Given the description of an element on the screen output the (x, y) to click on. 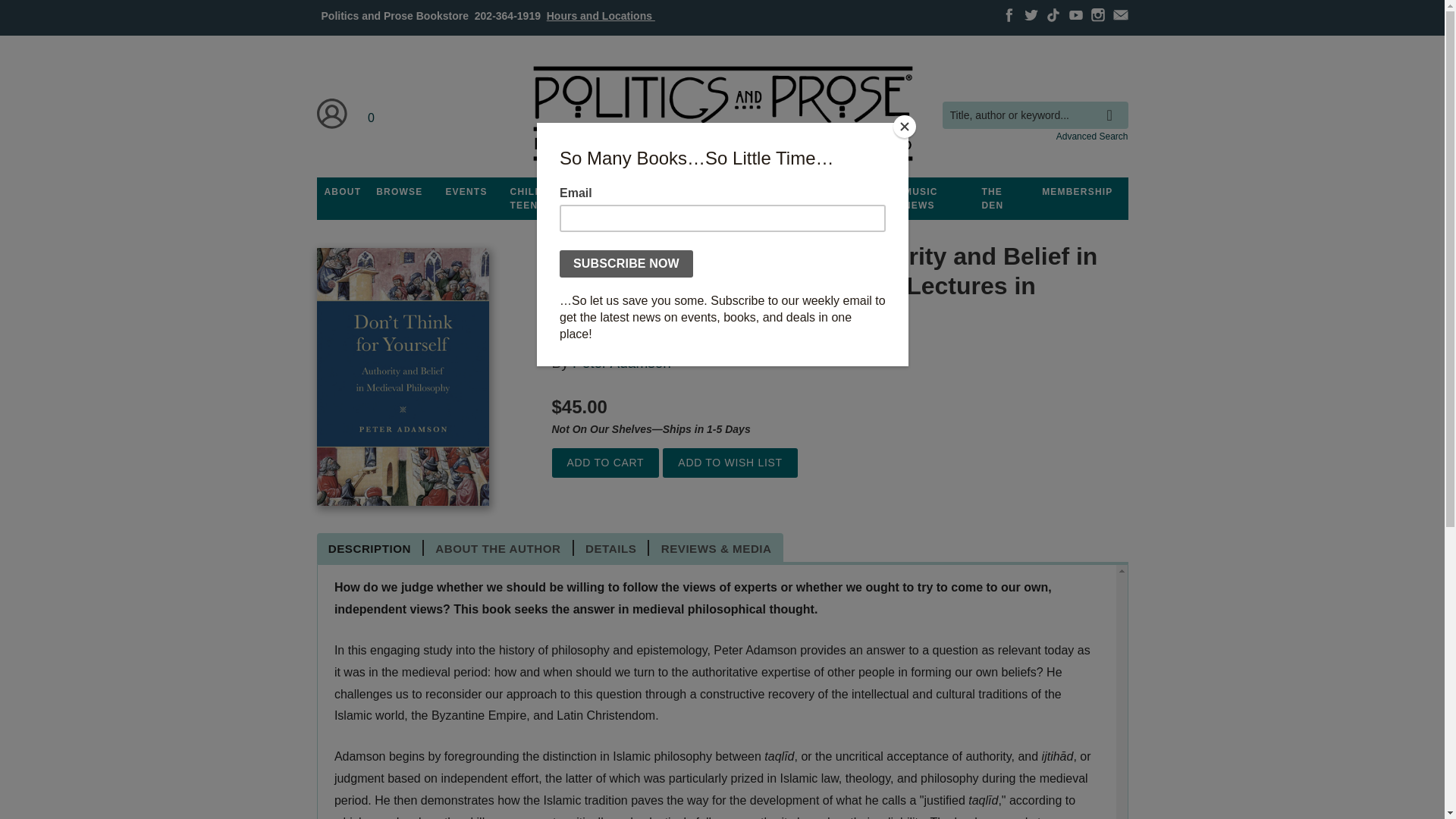
See our event calendar (465, 191)
Title, author or keyword... (1034, 115)
SERVICES (808, 191)
Browse our shelves (398, 191)
PROGRAMS (633, 191)
See our store ours and locations (601, 15)
ABOUT (343, 191)
Add to Cart (605, 462)
Hours and Locations  (601, 15)
Home (721, 114)
Advanced Search (1092, 136)
search (1112, 103)
Children and Teens Department (548, 198)
EVENTS (465, 191)
